Given the description of an element on the screen output the (x, y) to click on. 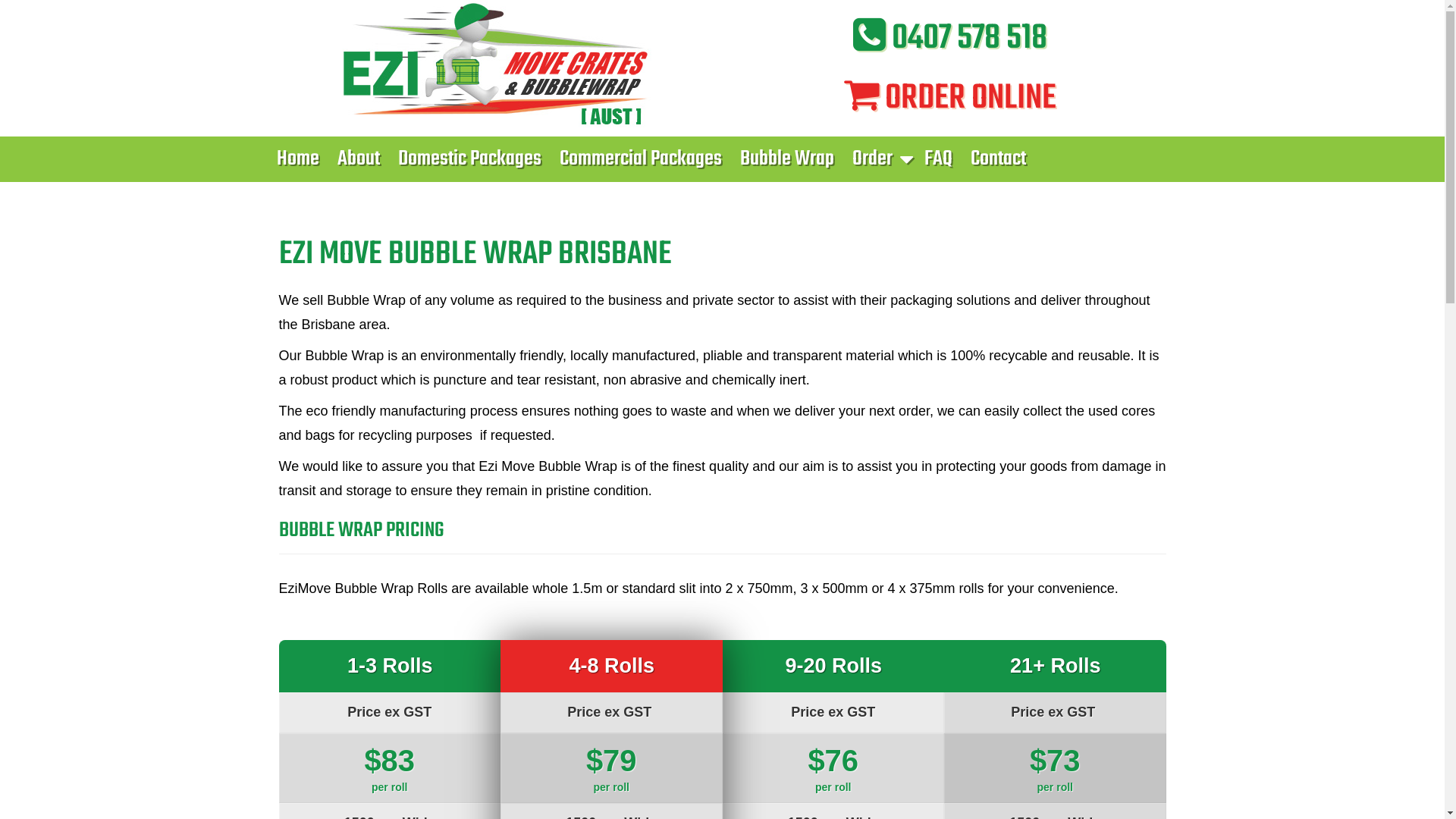
Commercial Packages Element type: text (640, 159)
 ORDER ONLINE Element type: text (949, 98)
Bubble Wrap Element type: text (787, 159)
Contact Element type: text (998, 159)
About Element type: text (357, 159)
0407 578 518 Element type: text (949, 38)
Order Element type: text (879, 159)
Home Element type: text (296, 159)
FAQ Element type: text (937, 159)
Domestic Packages Element type: text (468, 159)
